Given the description of an element on the screen output the (x, y) to click on. 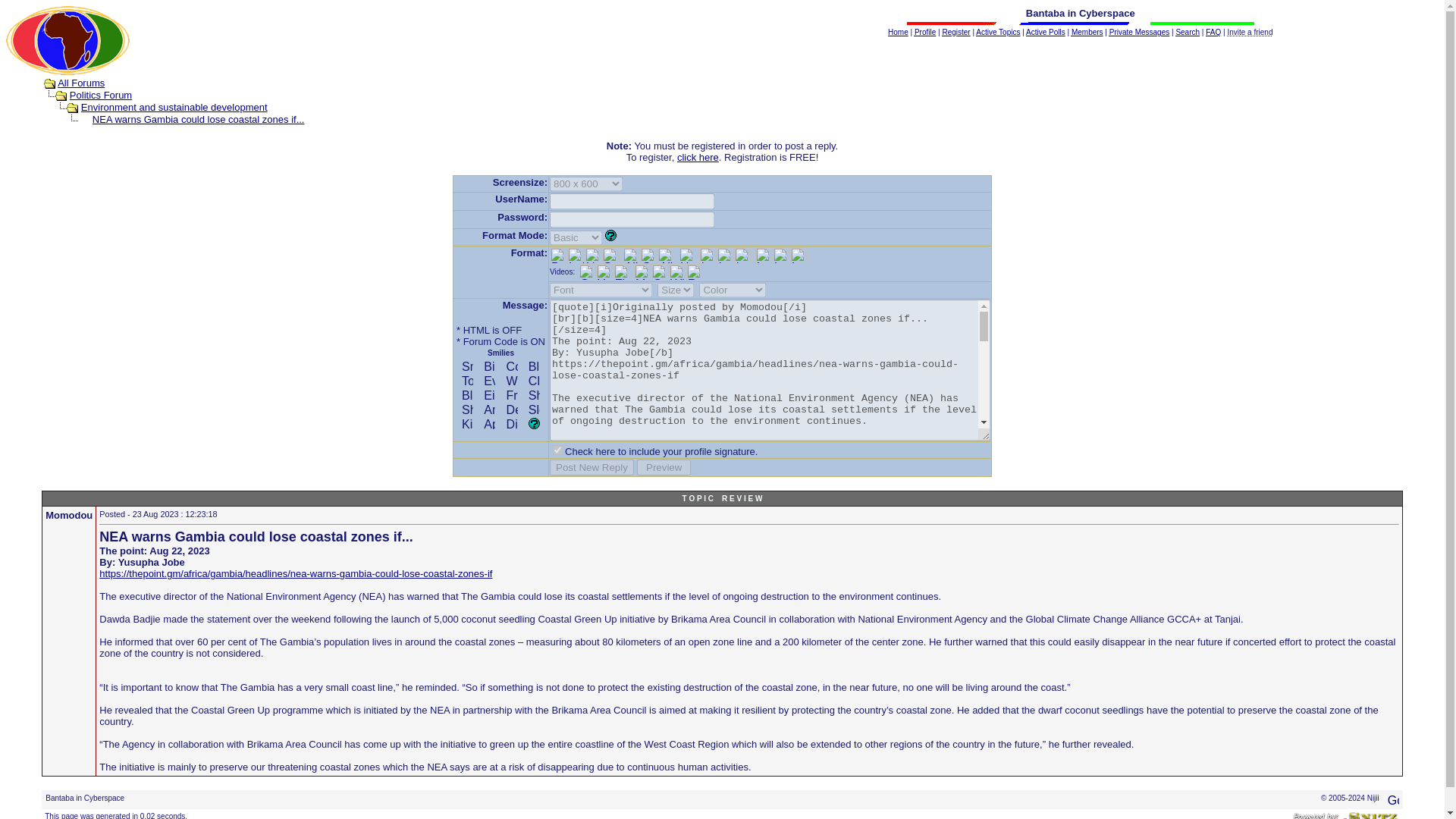
See what topics have been active since your last visit... (997, 31)
Register (955, 31)
Profile (925, 31)
Forum Code (490, 341)
Check Your Private Messages... (1139, 31)
Invite a friend (1249, 31)
Bantaba in Cyberspace (67, 40)
Environment and sustainable development (174, 107)
See all the active polls... (1045, 31)
Answers to Frequently Asked Questions... (1213, 31)
Active Polls (1045, 31)
All Forums (81, 82)
Homepage (898, 31)
 Preview  (663, 467)
Edit your personal profile... (925, 31)
